Given the description of an element on the screen output the (x, y) to click on. 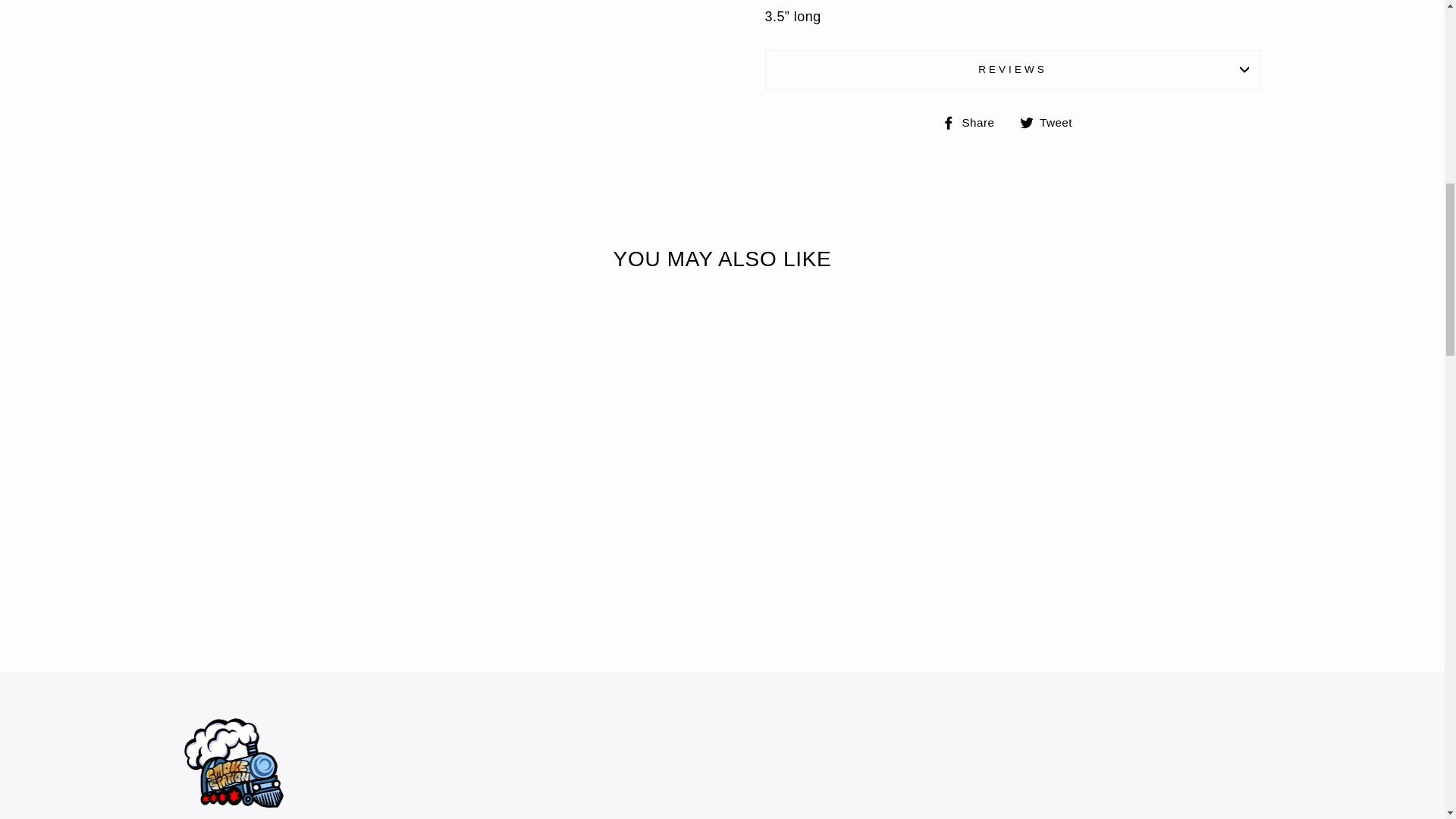
Share on Facebook (974, 122)
Tweet on Twitter (1051, 122)
